Given the description of an element on the screen output the (x, y) to click on. 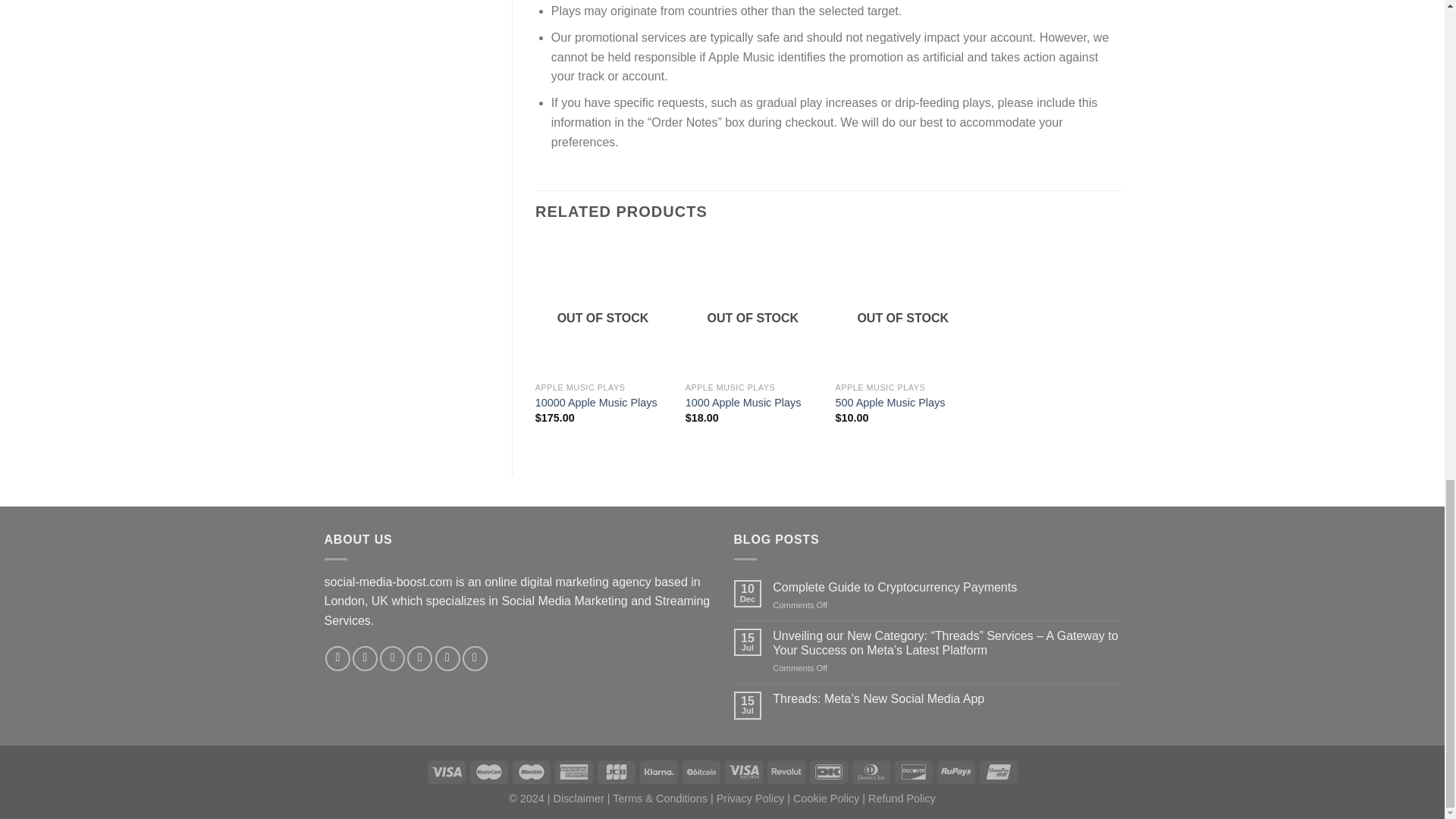
Follow on Instagram (364, 658)
Follow on Facebook (337, 658)
